Given the description of an element on the screen output the (x, y) to click on. 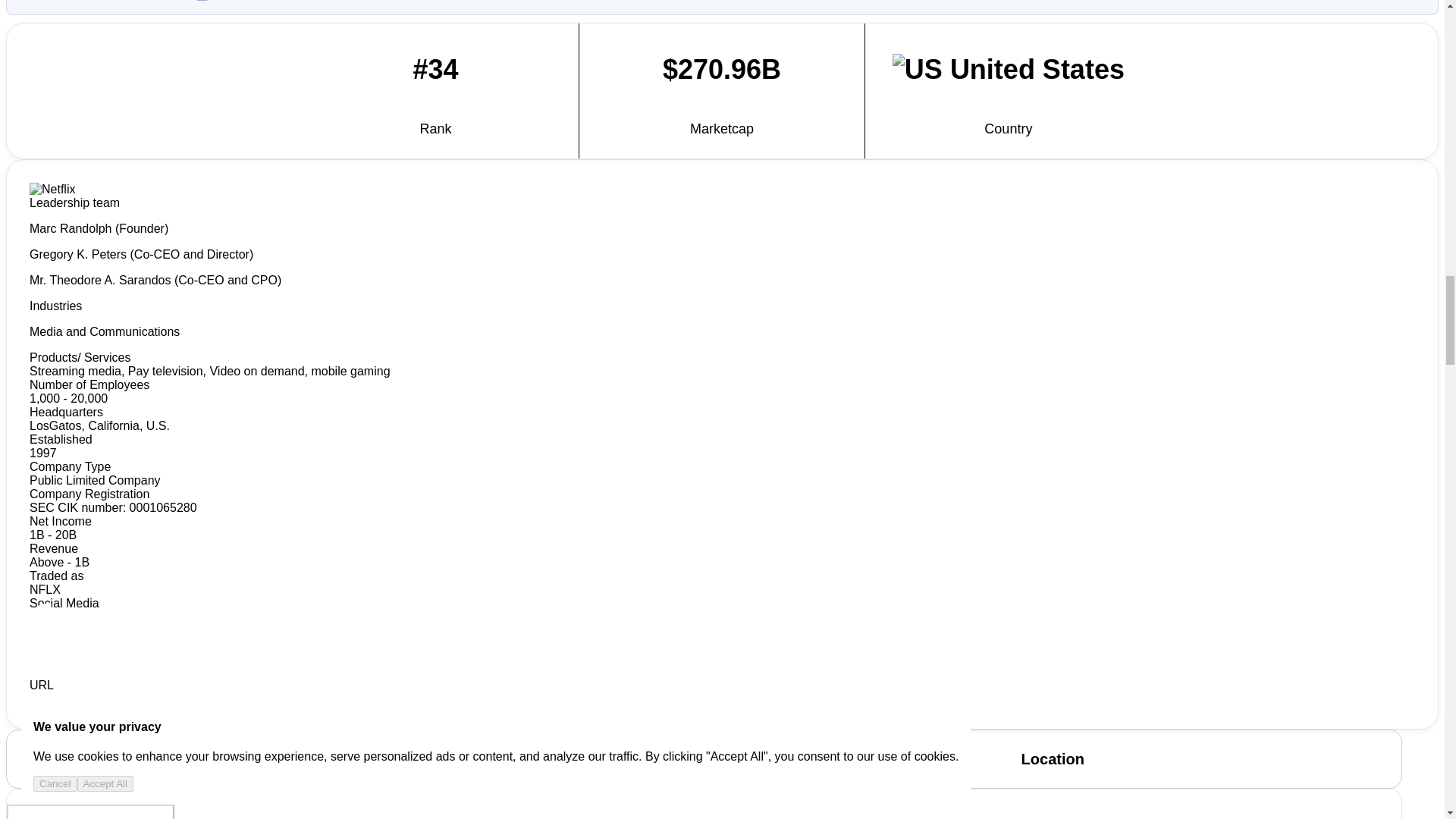
US (917, 69)
www.netflix.com (72, 698)
Table of content (90, 811)
